Given the description of an element on the screen output the (x, y) to click on. 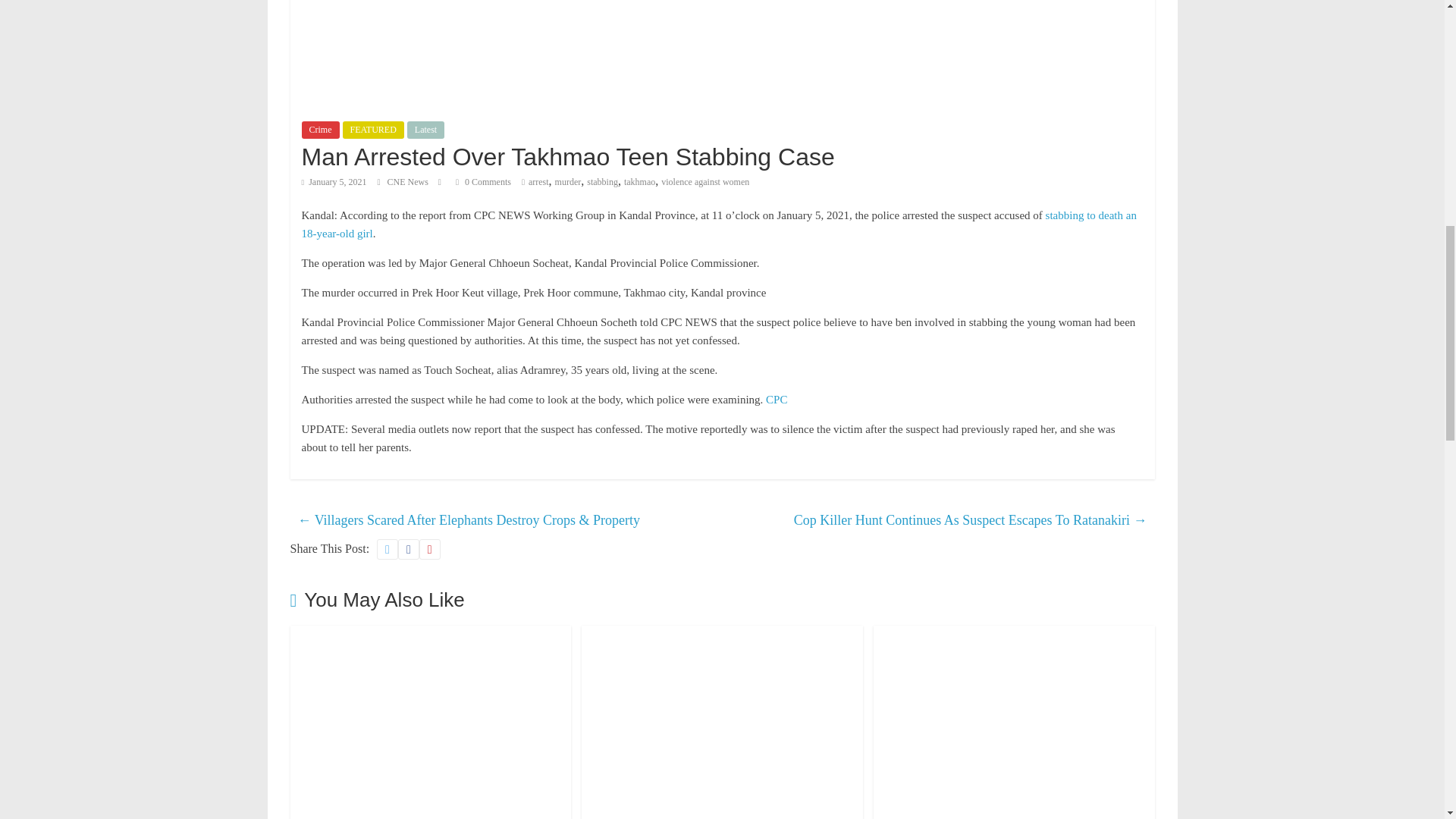
CNE News (408, 181)
CNE News (408, 181)
murder (567, 181)
Croc Found Outside Hospital After Siem Reap Flood (721, 634)
stabbing (601, 181)
Canadia Tower To Remain Closed (429, 634)
0 Comments (483, 181)
Crime (320, 129)
arrest (538, 181)
stabbing to death an 18-year-old girl (719, 224)
11:54 am (333, 181)
violence against women (705, 181)
January 5, 2021 (333, 181)
CPC (776, 399)
FEATURED (373, 129)
